Given the description of an element on the screen output the (x, y) to click on. 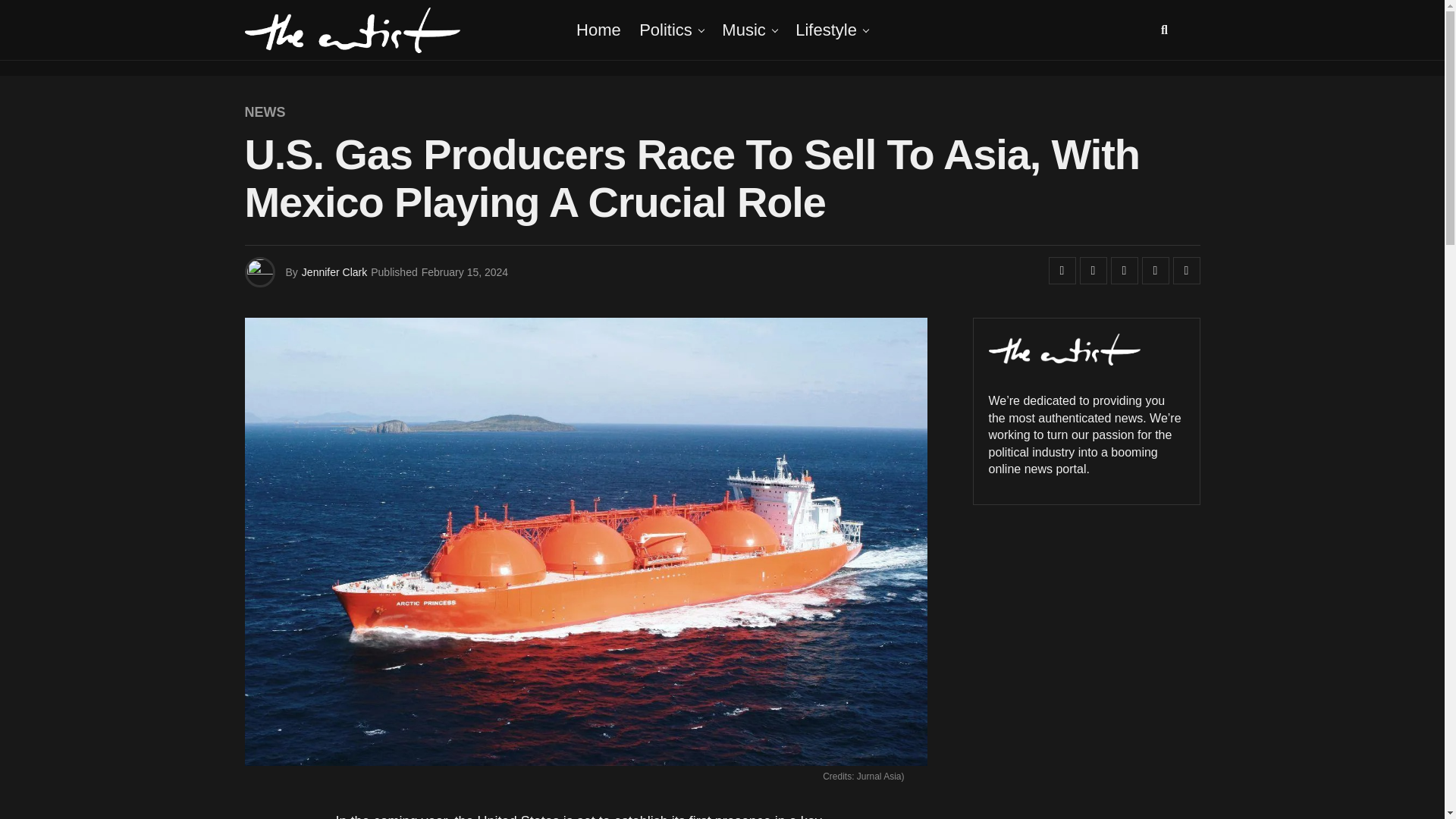
Music (743, 30)
Lifestyle (825, 30)
Posts by Jennifer Clark (333, 272)
Tweet This Post (1093, 270)
Politics (665, 30)
Share on Facebook (1061, 270)
Home (598, 30)
